Given the description of an element on the screen output the (x, y) to click on. 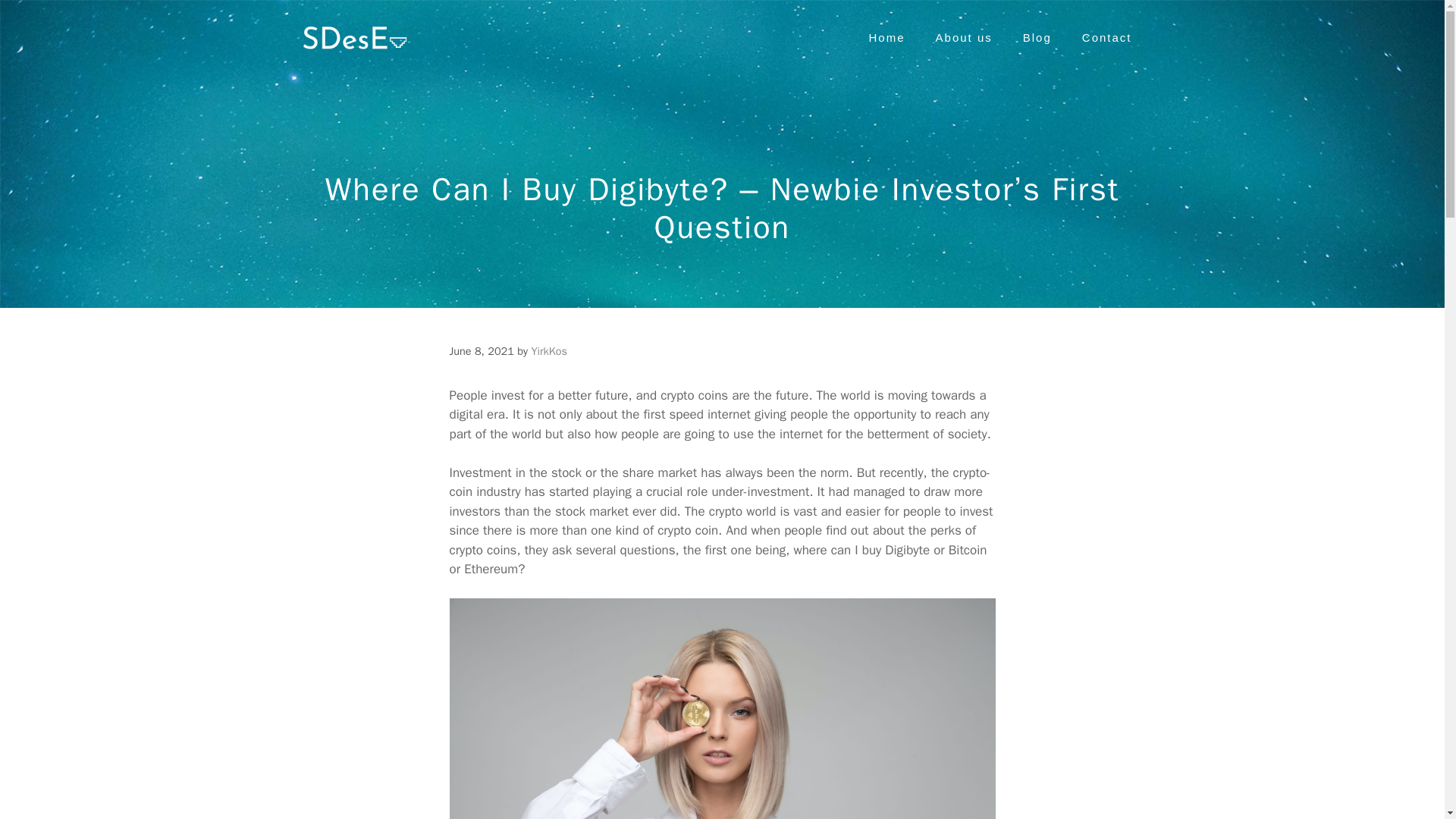
where can I buy Digibyte (861, 549)
Home (886, 37)
Blog (1037, 37)
Contact (1107, 37)
About us (963, 37)
YirkKos (549, 350)
